Given the description of an element on the screen output the (x, y) to click on. 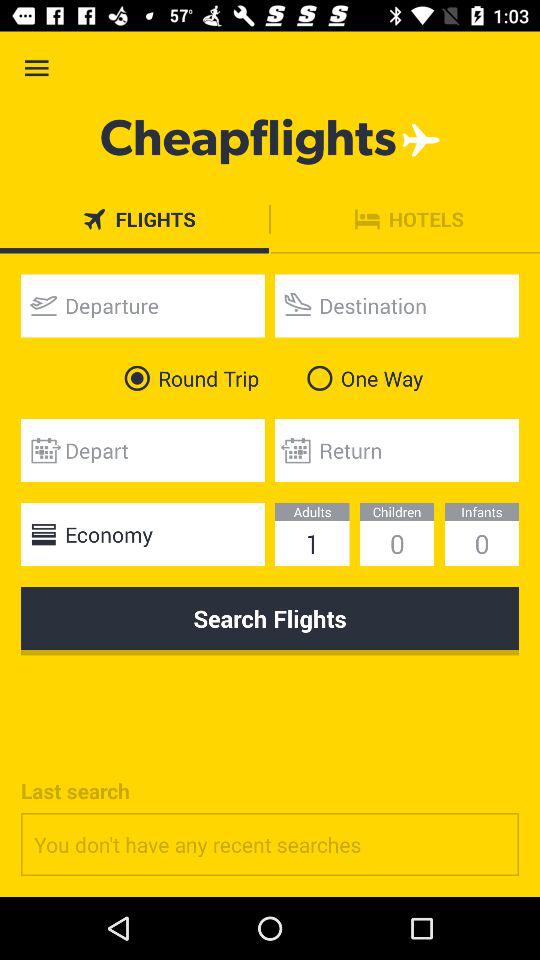
tap the icon to the left of adults (142, 534)
